Given the description of an element on the screen output the (x, y) to click on. 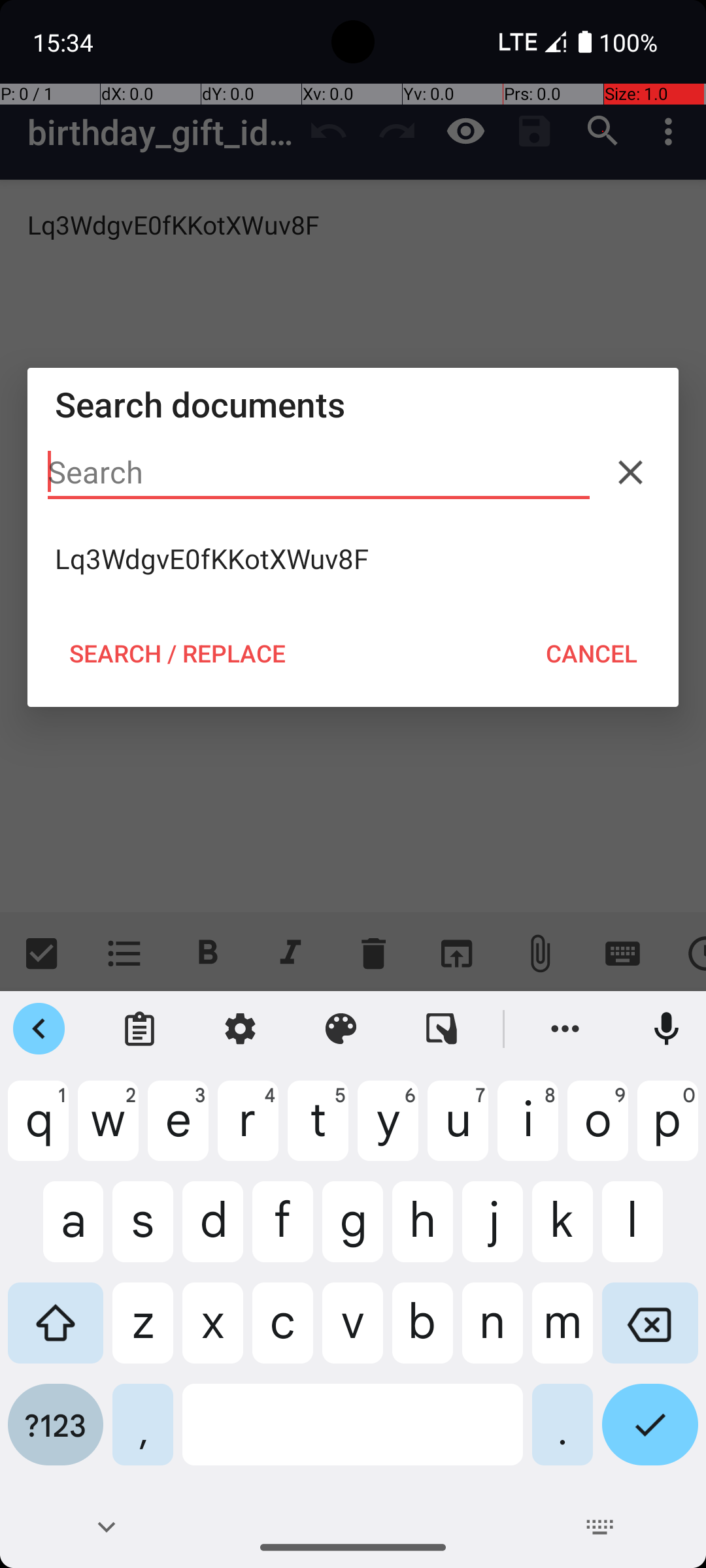
Lq3WdgvE0fKKotXWuv8F Element type: android.widget.TextView (352, 558)
